Given the description of an element on the screen output the (x, y) to click on. 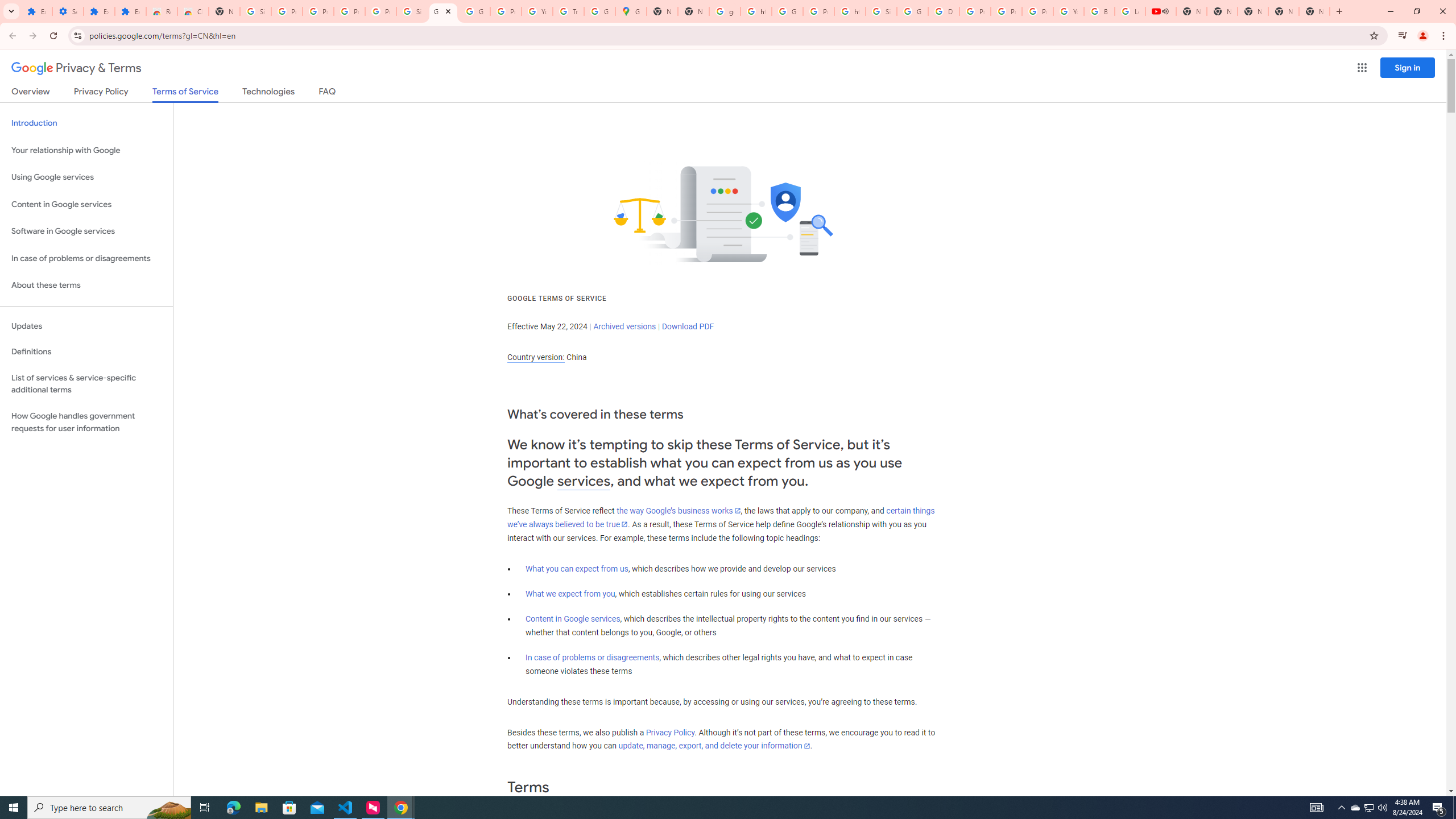
Download PDF (687, 326)
New Tab (1314, 11)
New Tab (223, 11)
Privacy & Terms (76, 68)
What we expect from you (570, 593)
Privacy Help Center - Policies Help (974, 11)
https://scholar.google.com/ (849, 11)
Settings (67, 11)
Terms of Service (184, 94)
